Given the description of an element on the screen output the (x, y) to click on. 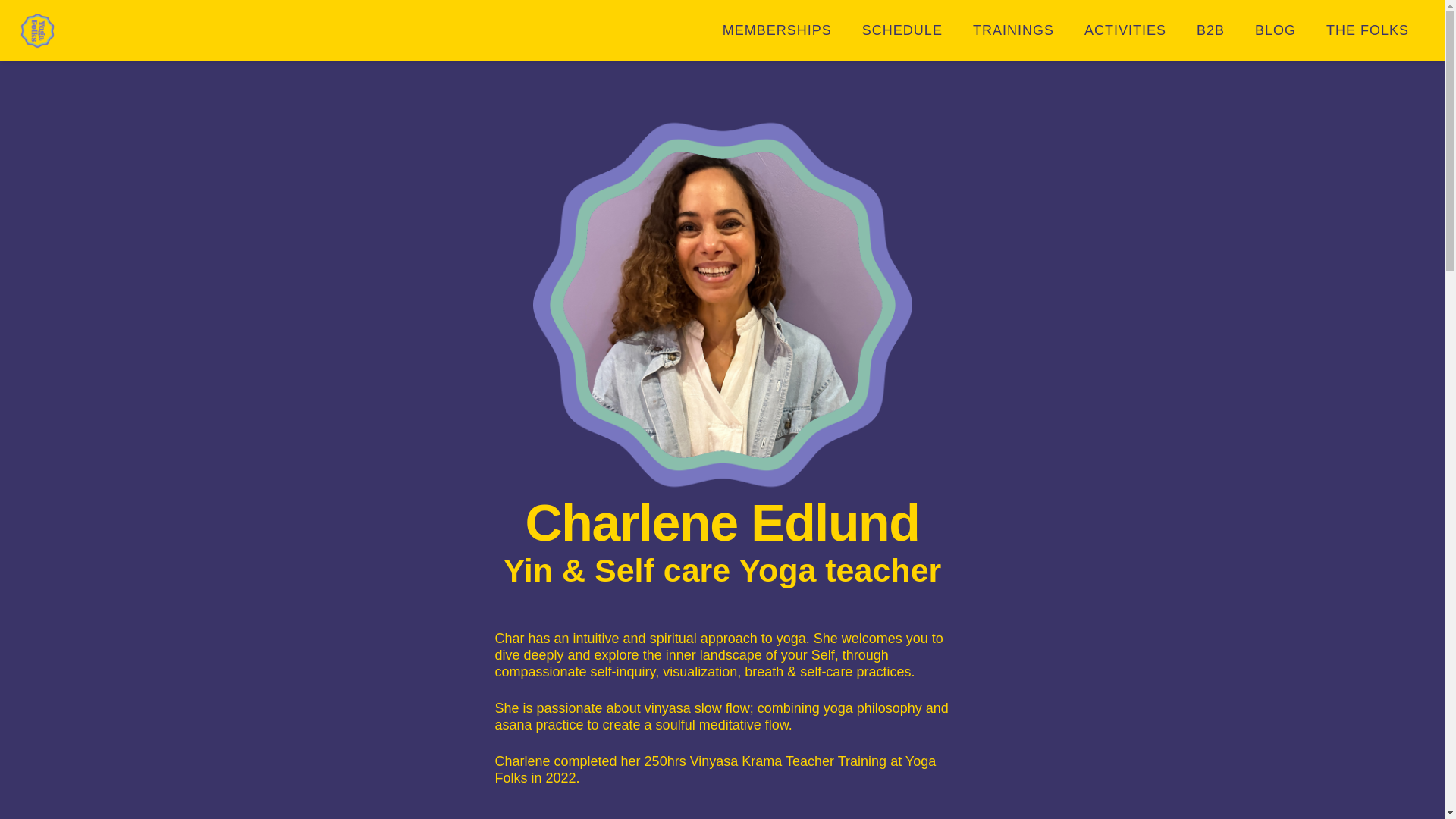
BLOG (1275, 30)
THE FOLKS (1367, 30)
MEMBERSHIPS (777, 30)
TRAININGS (1013, 30)
SCHEDULE (902, 30)
ACTIVITIES (1124, 30)
B2B (1210, 30)
